Given the description of an element on the screen output the (x, y) to click on. 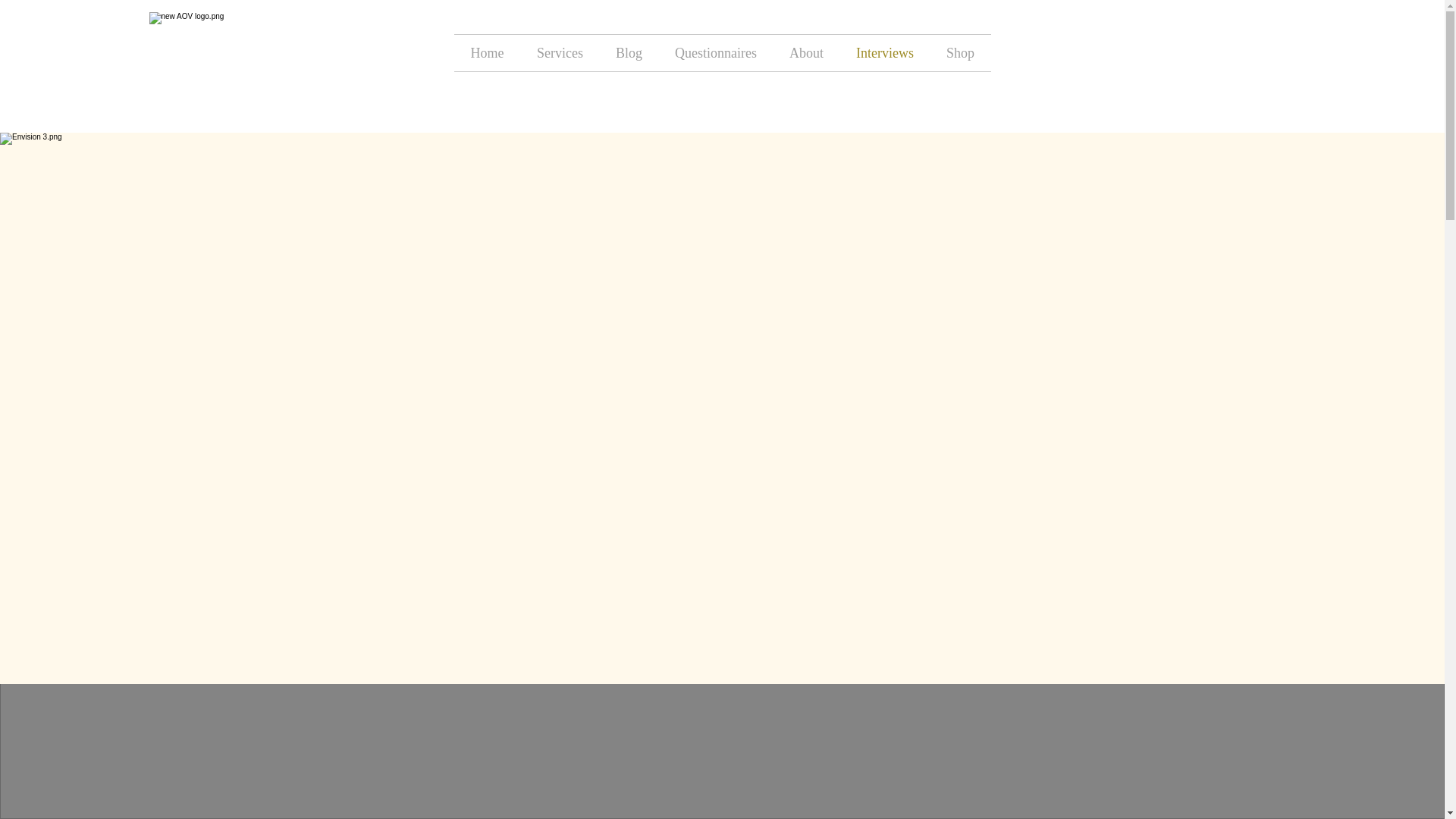
Home (485, 53)
About (806, 53)
Shop (960, 53)
Interviews (885, 53)
Questionnaires (715, 53)
Services (558, 53)
Blog (628, 53)
